Given the description of an element on the screen output the (x, y) to click on. 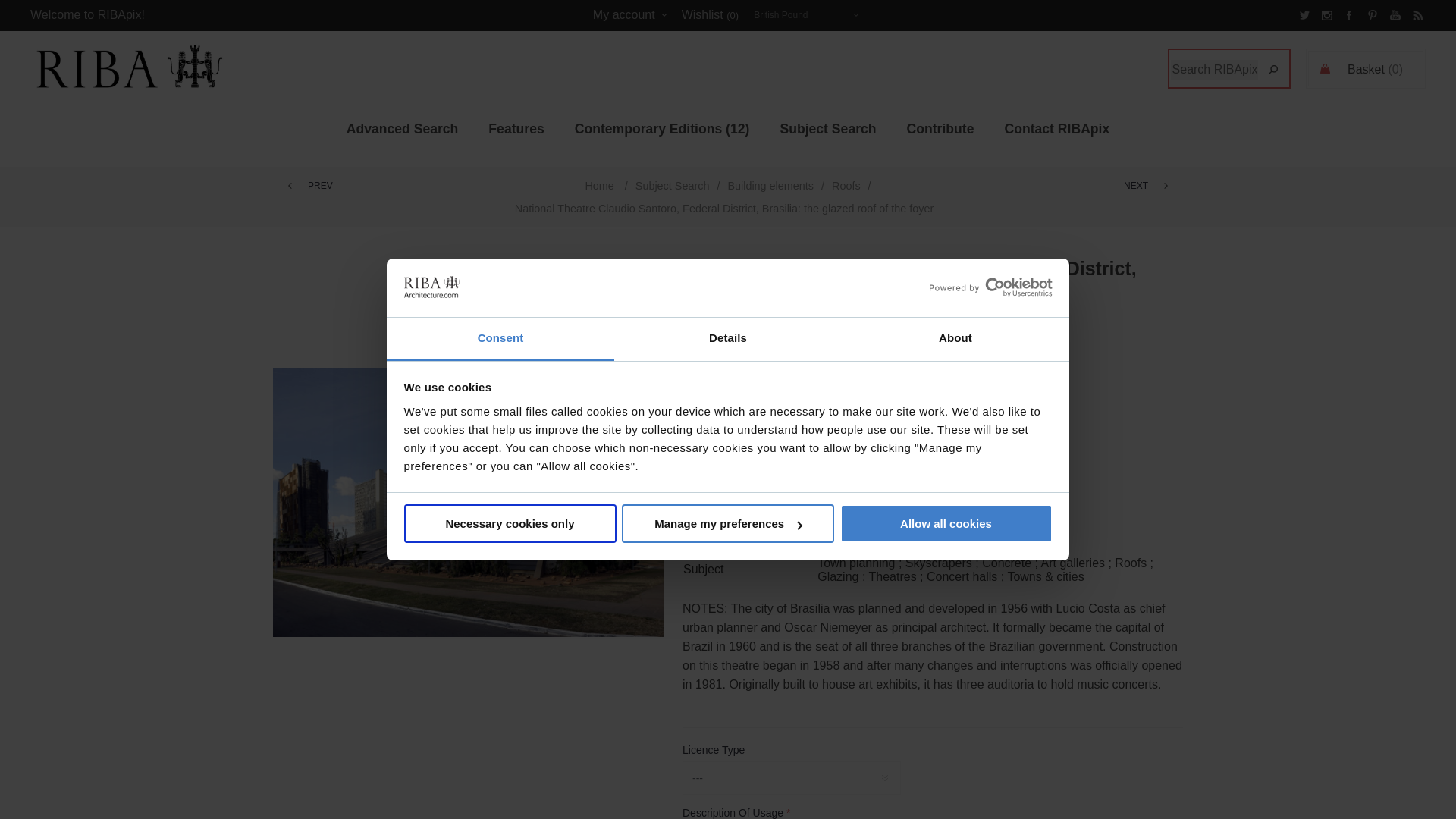
Necessary cookies only (509, 523)
Details (727, 339)
Consent (500, 339)
About (954, 339)
Search (1272, 69)
Manage my preferences (727, 523)
Search (1272, 69)
Allow all cookies (946, 523)
